Given the description of an element on the screen output the (x, y) to click on. 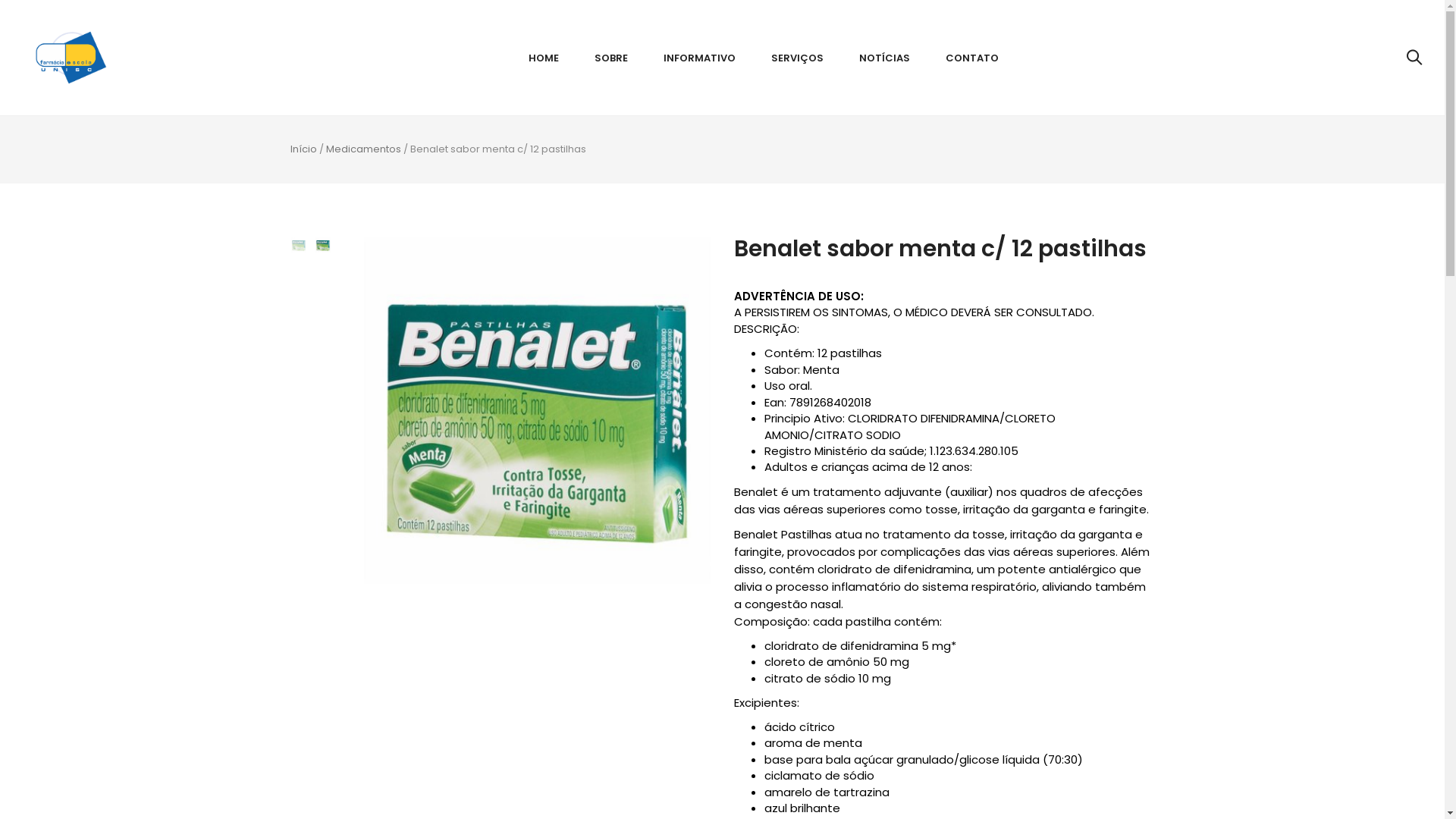
INFORMATIVO Element type: text (699, 57)
CONTATO Element type: text (972, 57)
SOBRE Element type: text (611, 57)
HOME Element type: text (543, 57)
Medicamentos Element type: text (363, 148)
